Given the description of an element on the screen output the (x, y) to click on. 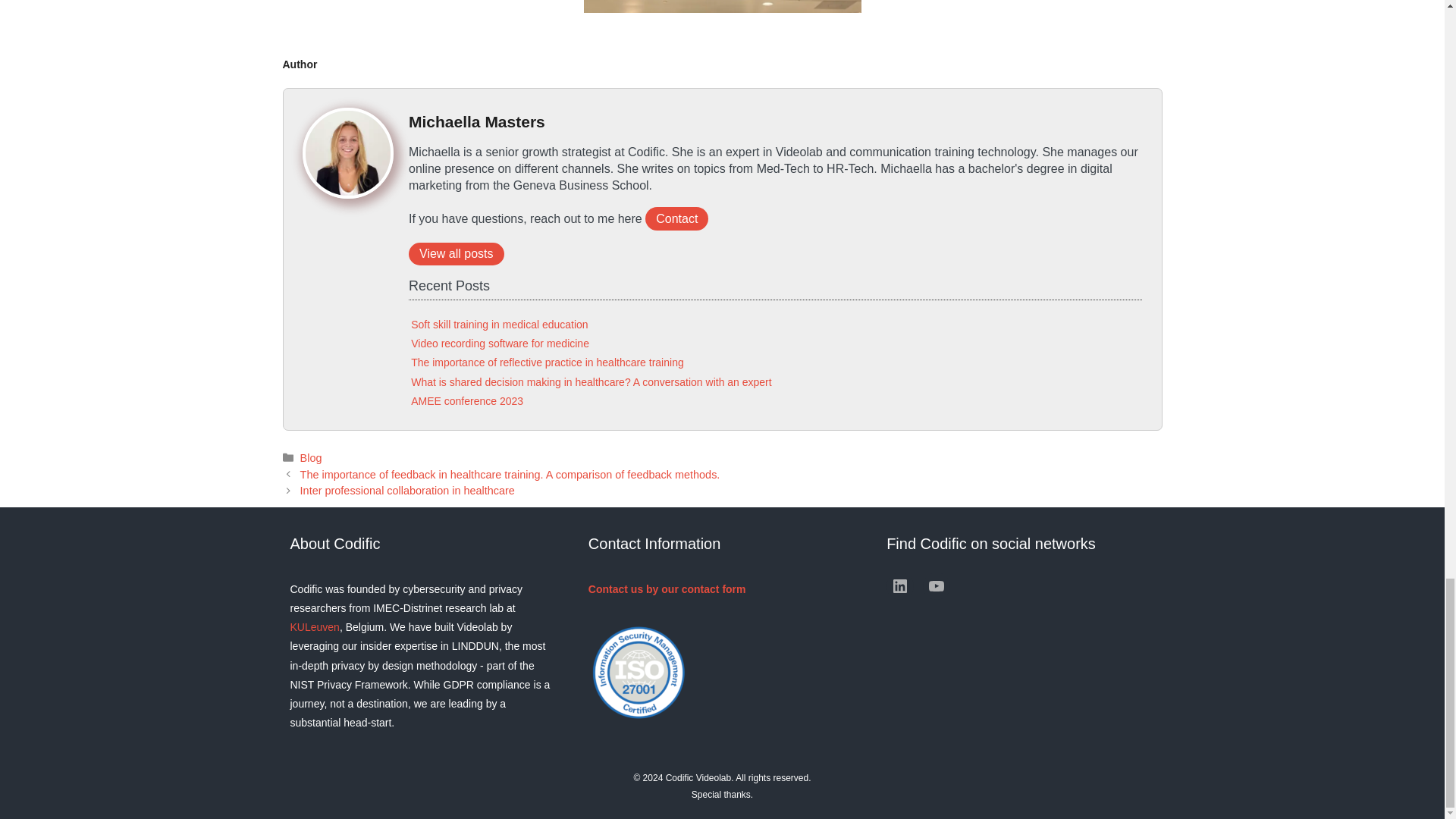
The importance of reflective practice in healthcare training (547, 362)
Michaella Masters (476, 121)
Soft skill training in medical education (499, 324)
View all posts (456, 253)
AMEE conference 2023 (466, 400)
Video recording software for medicine (499, 343)
